Given the description of an element on the screen output the (x, y) to click on. 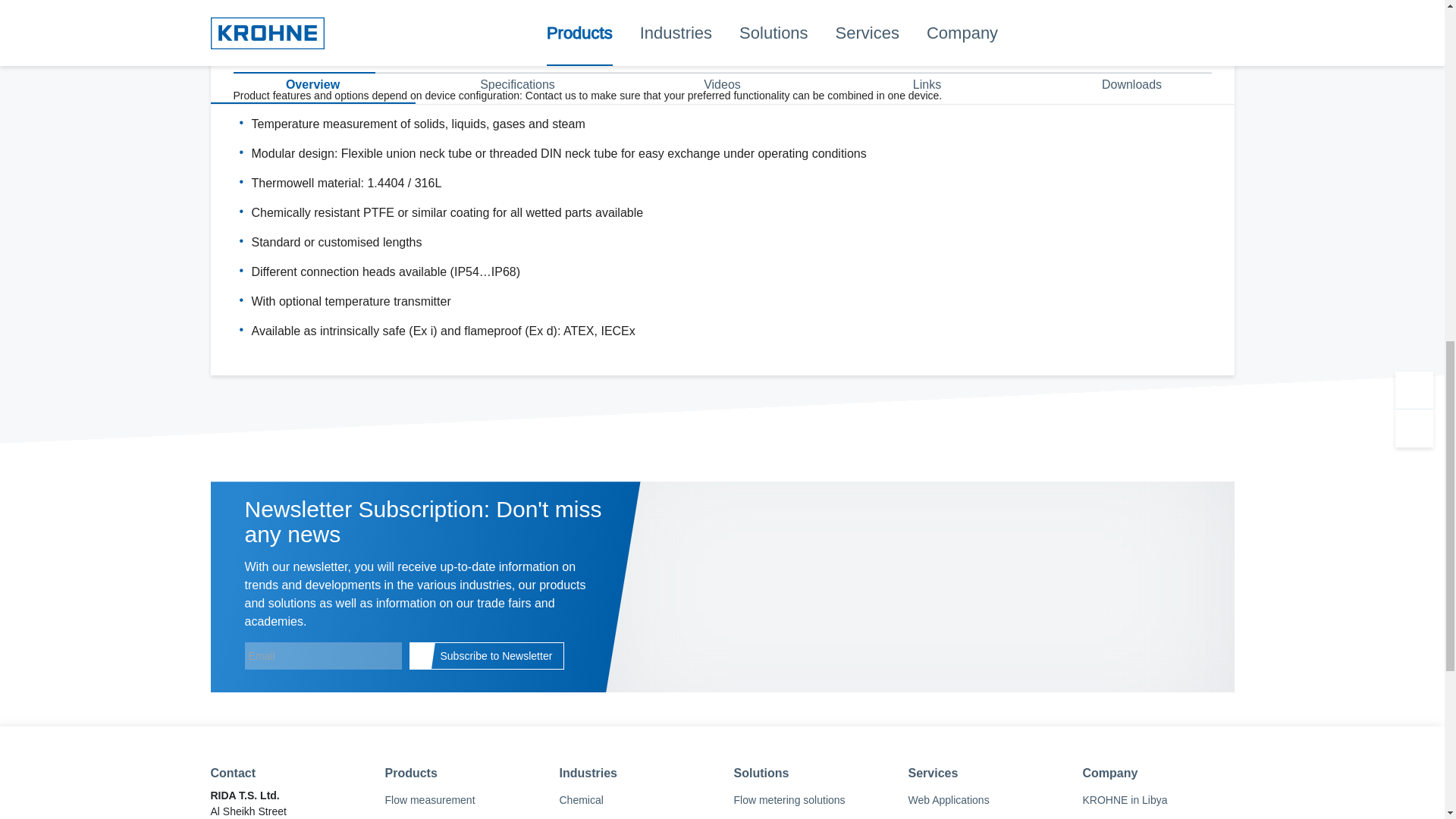
Products (461, 773)
Subscribe to Newsletter (486, 655)
Flow measurement (461, 799)
Typical applications (443, 54)
Level measurement (461, 815)
